Given the description of an element on the screen output the (x, y) to click on. 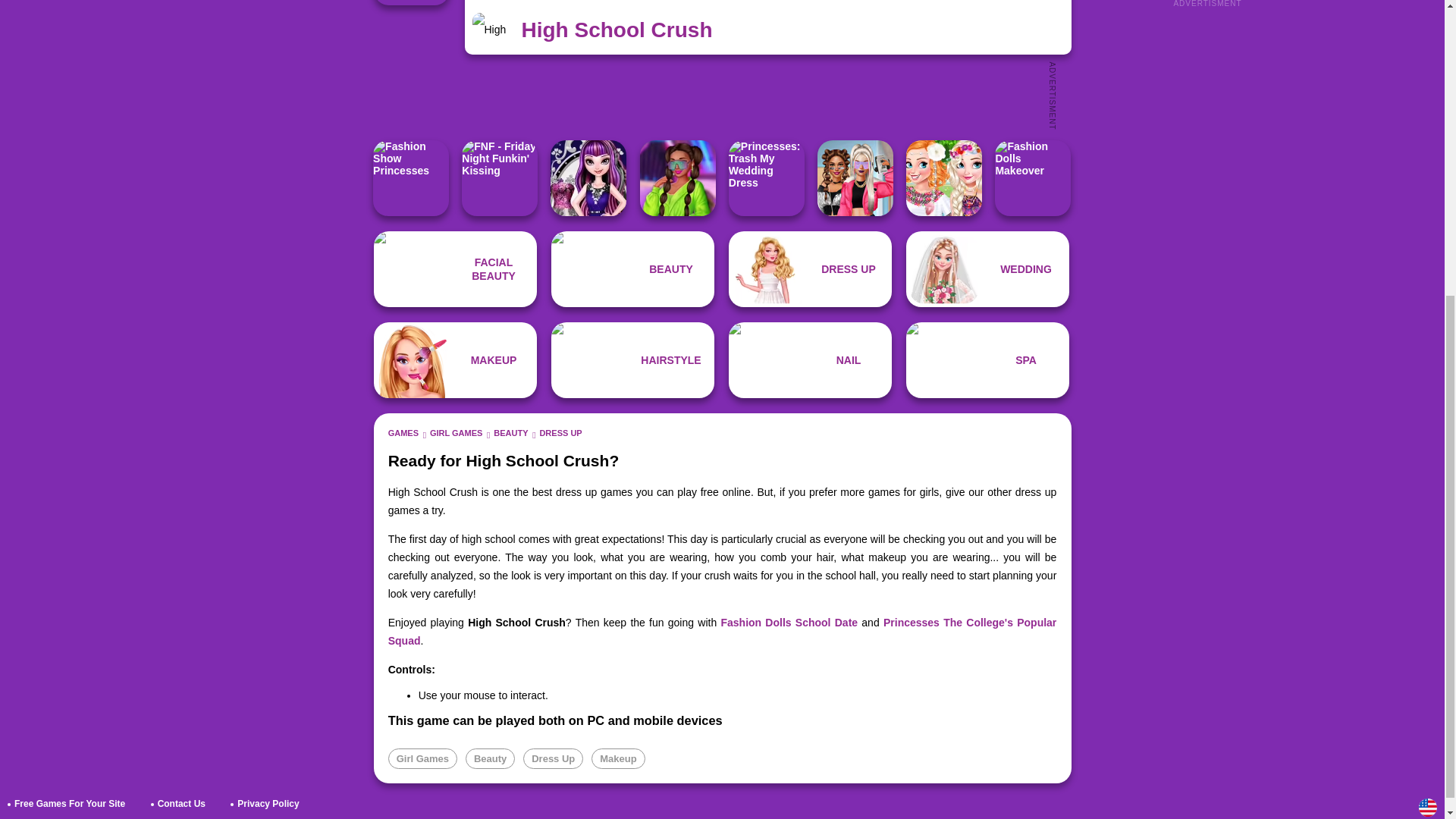
FNF - Friday Night Funkin' Kissing (499, 178)
Fashion Show Princesses (410, 178)
Dress Up (810, 268)
Beauty (490, 758)
Fashion Dolls School Date (788, 622)
MAKEUP (455, 360)
DRESS UP (559, 432)
Free Games For Your Site (69, 803)
Makeup (618, 758)
WEDDING (986, 268)
